Given the description of an element on the screen output the (x, y) to click on. 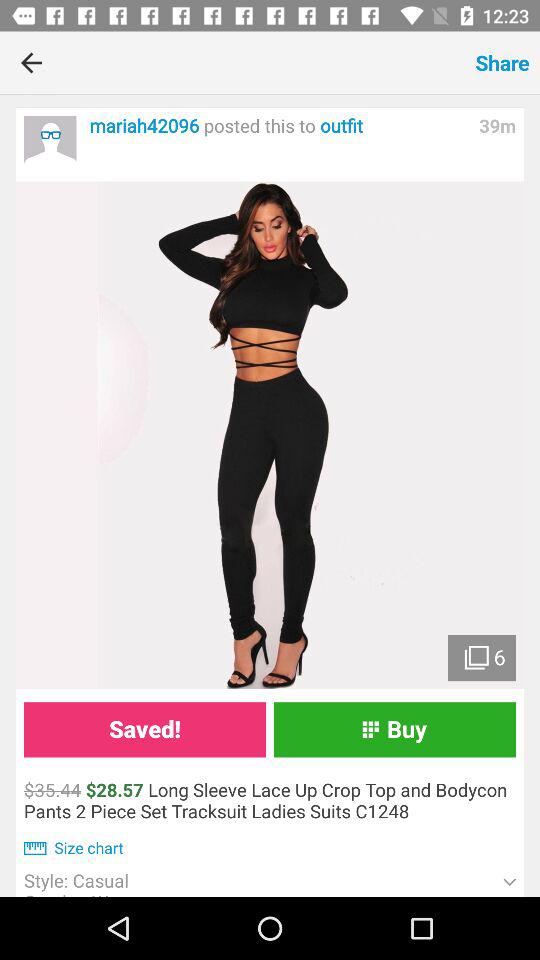
highlight (269, 435)
